Given the description of an element on the screen output the (x, y) to click on. 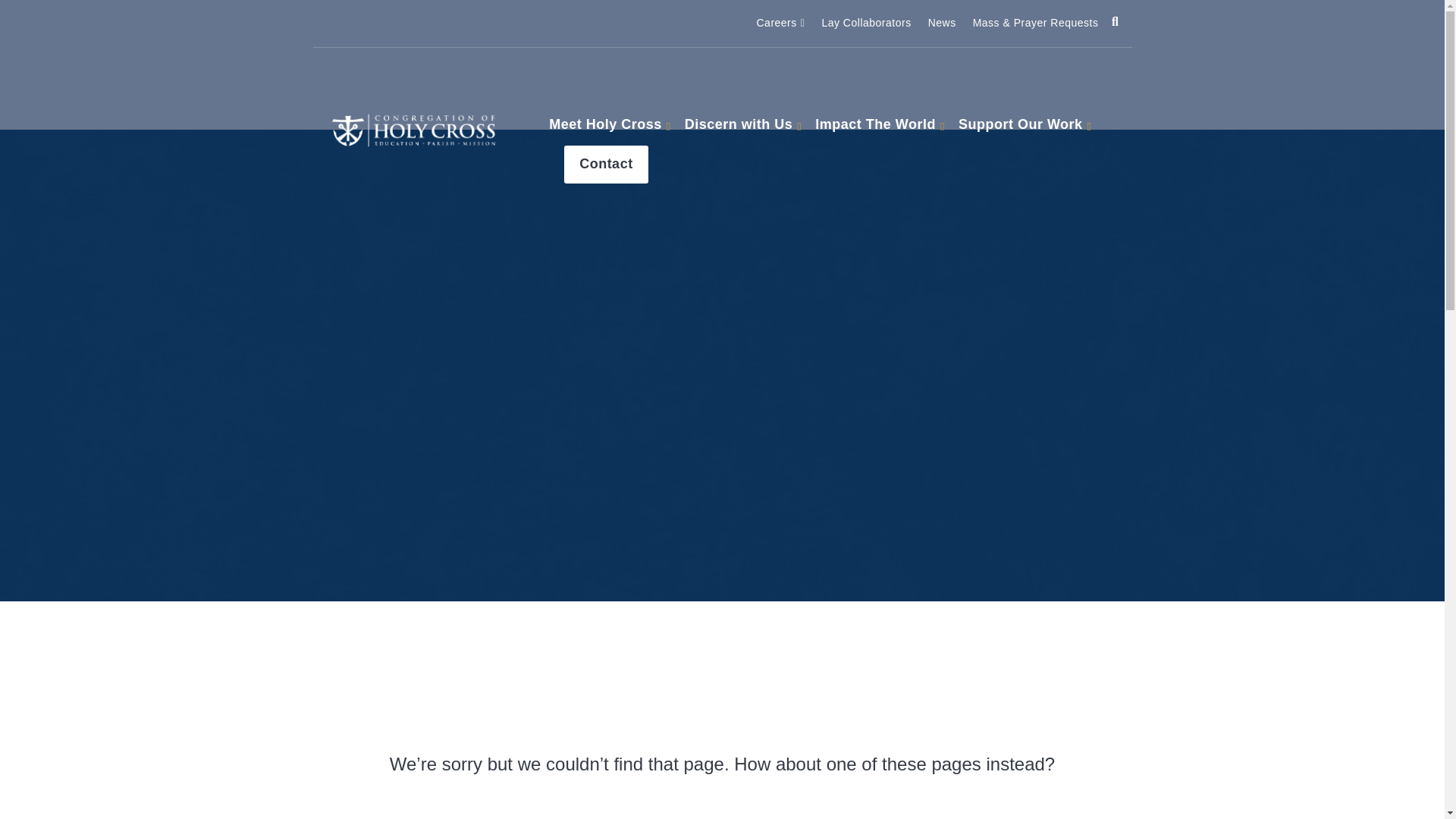
Open Search Popup (1114, 21)
Meet Holy Cross (605, 125)
Discern with Us (738, 125)
News (780, 23)
Skip to content (942, 23)
